Given the description of an element on the screen output the (x, y) to click on. 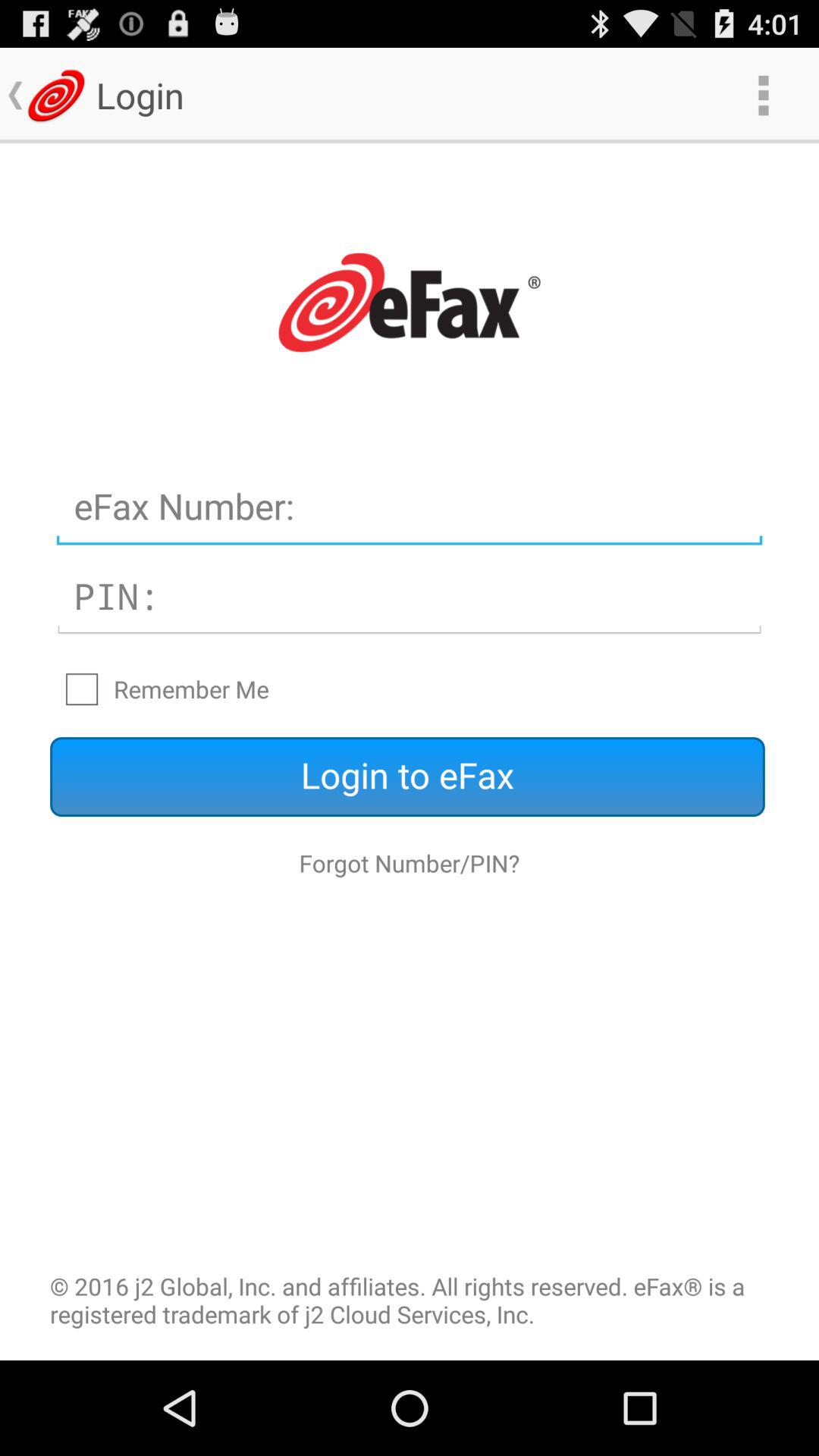
launch login to efax item (407, 776)
